Given the description of an element on the screen output the (x, y) to click on. 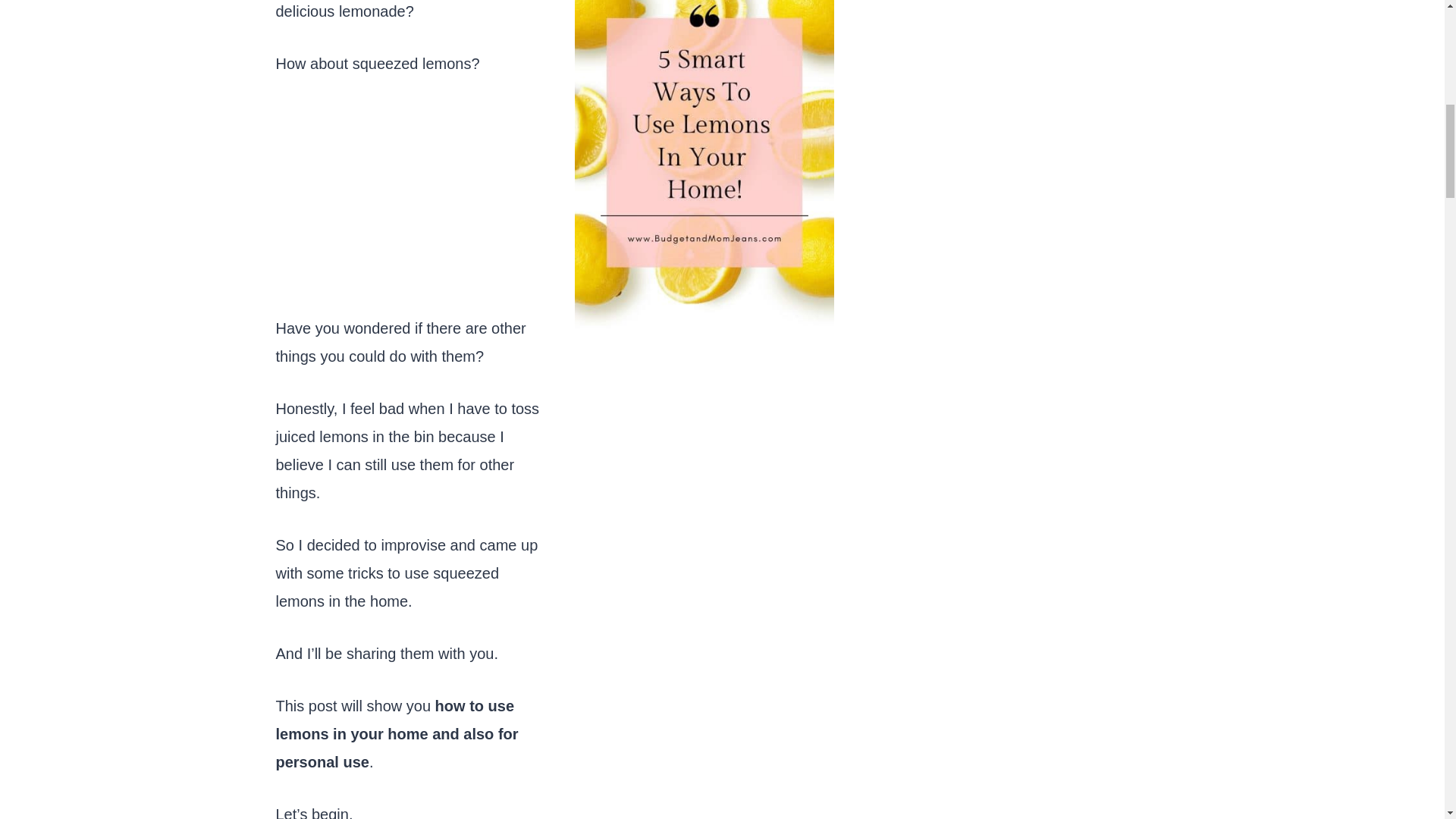
Advertisement (410, 208)
